Given the description of an element on the screen output the (x, y) to click on. 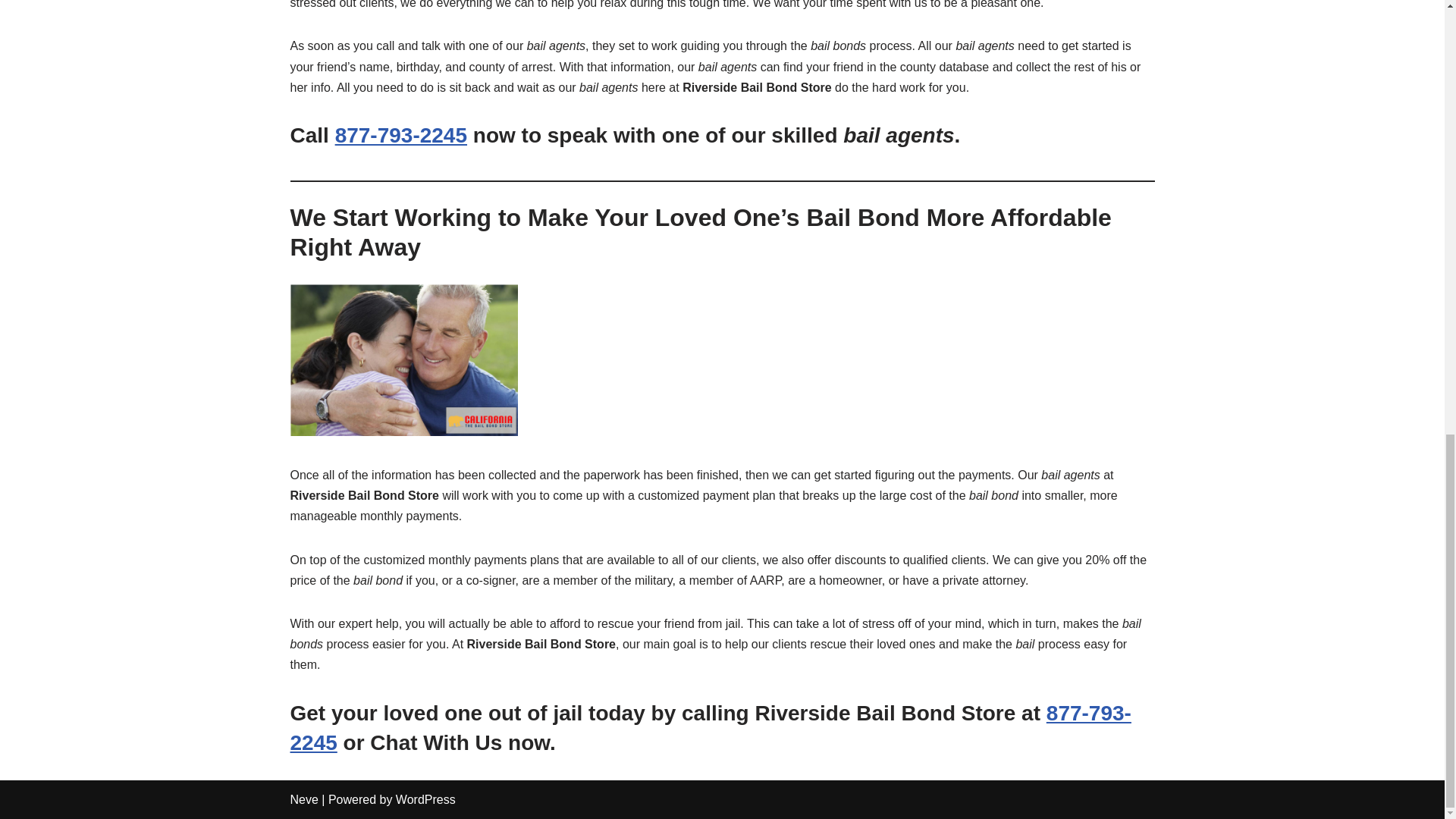
877-793-2245 (400, 135)
WordPress (425, 799)
877-793-2245 (710, 727)
Neve (303, 799)
